Given the description of an element on the screen output the (x, y) to click on. 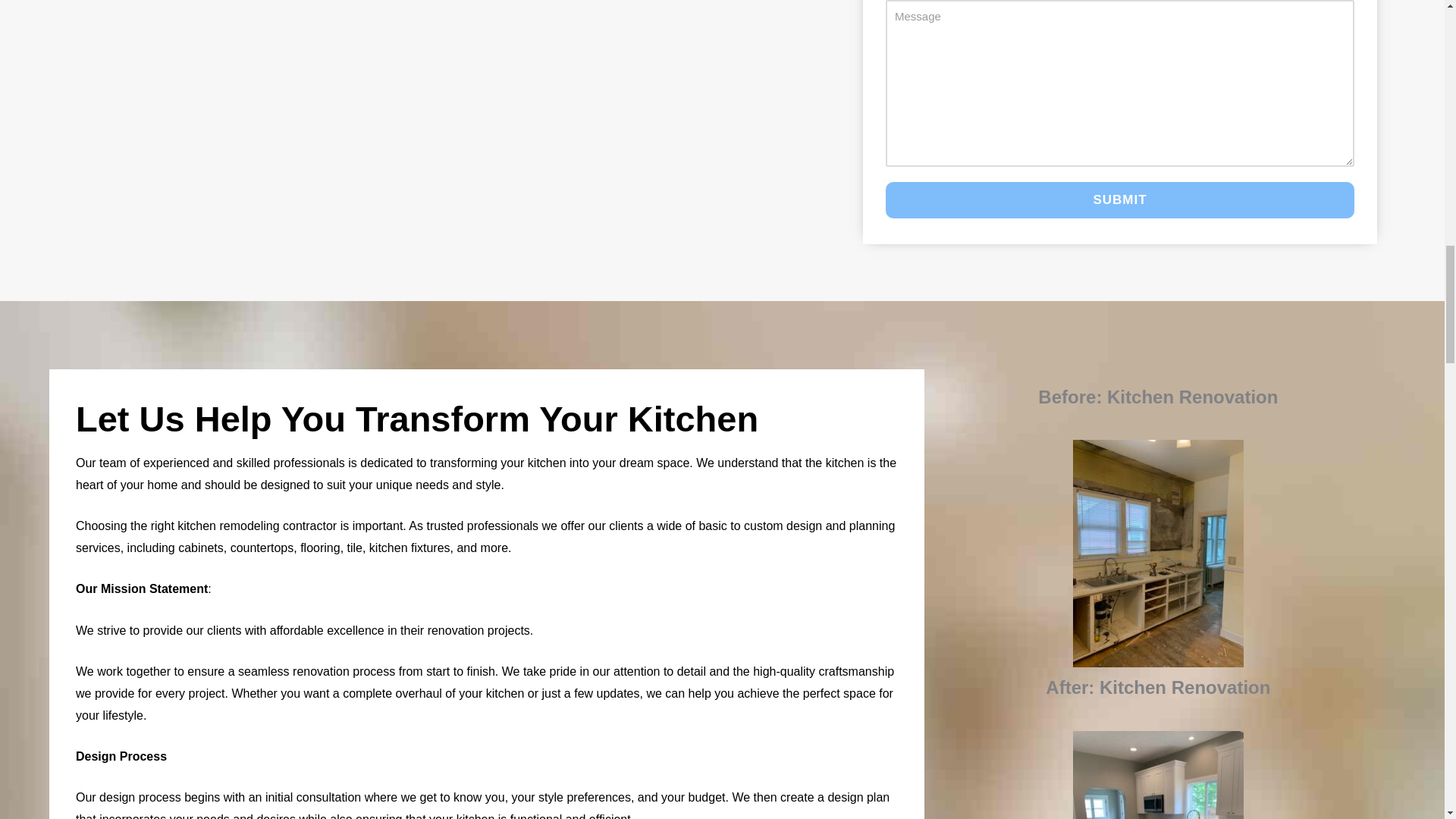
SUBMIT (1119, 199)
